Given the description of an element on the screen output the (x, y) to click on. 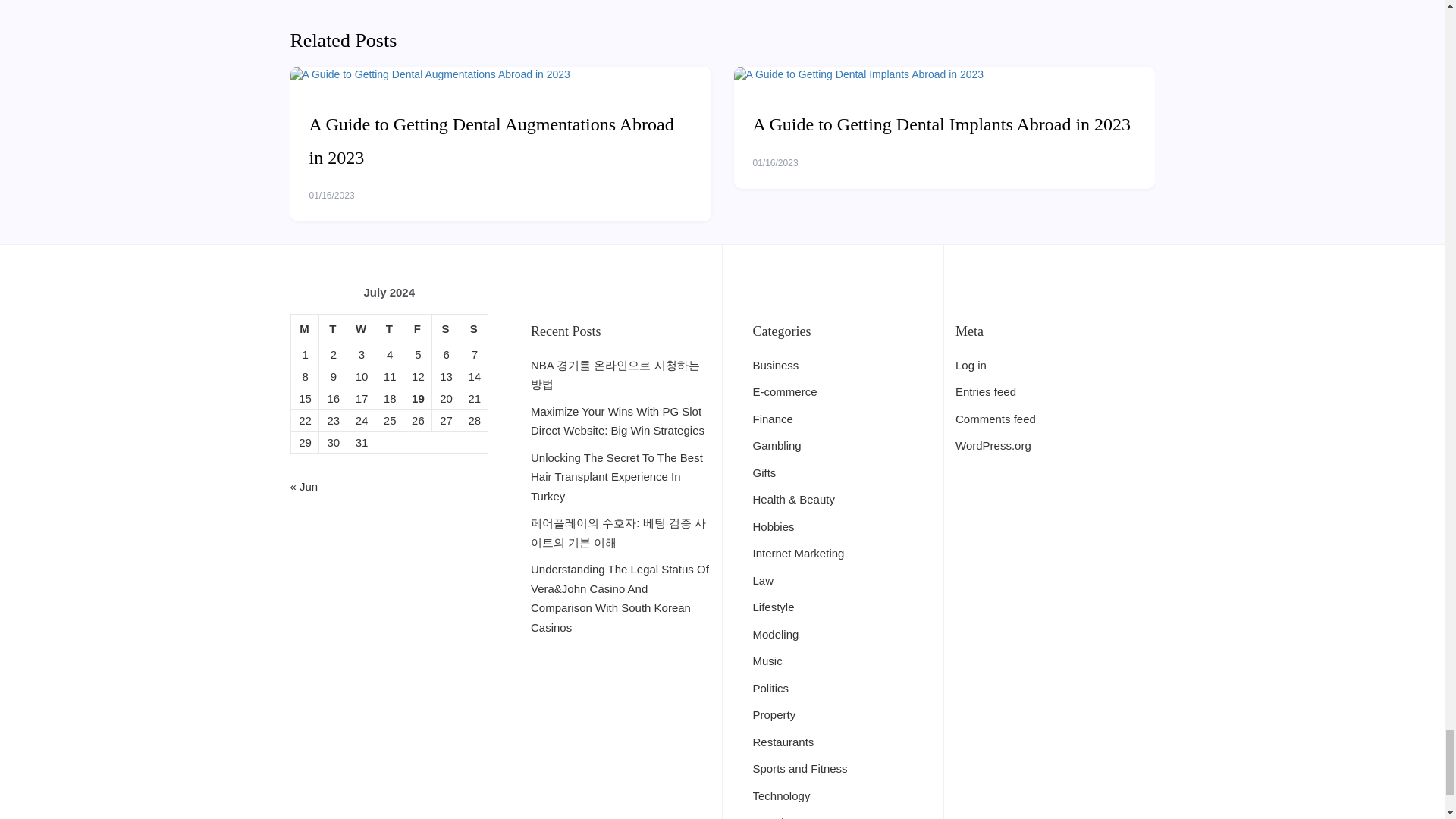
Wednesday (360, 328)
Sunday (473, 328)
Saturday (445, 328)
Thursday (389, 328)
Friday (416, 328)
Tuesday (332, 328)
Monday (303, 328)
